Given the description of an element on the screen output the (x, y) to click on. 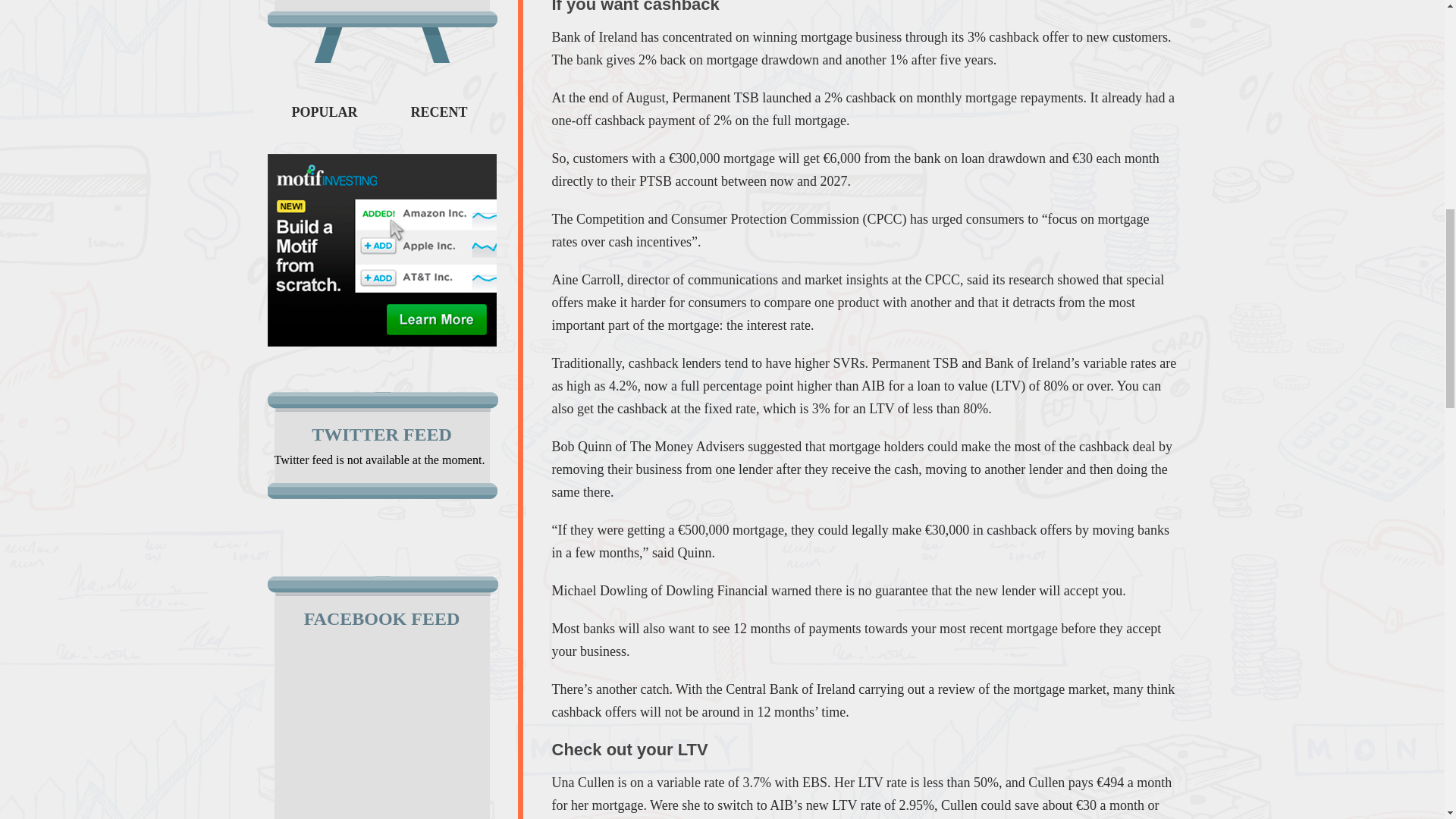
POPULAR (323, 111)
RECENT (438, 111)
